Given the description of an element on the screen output the (x, y) to click on. 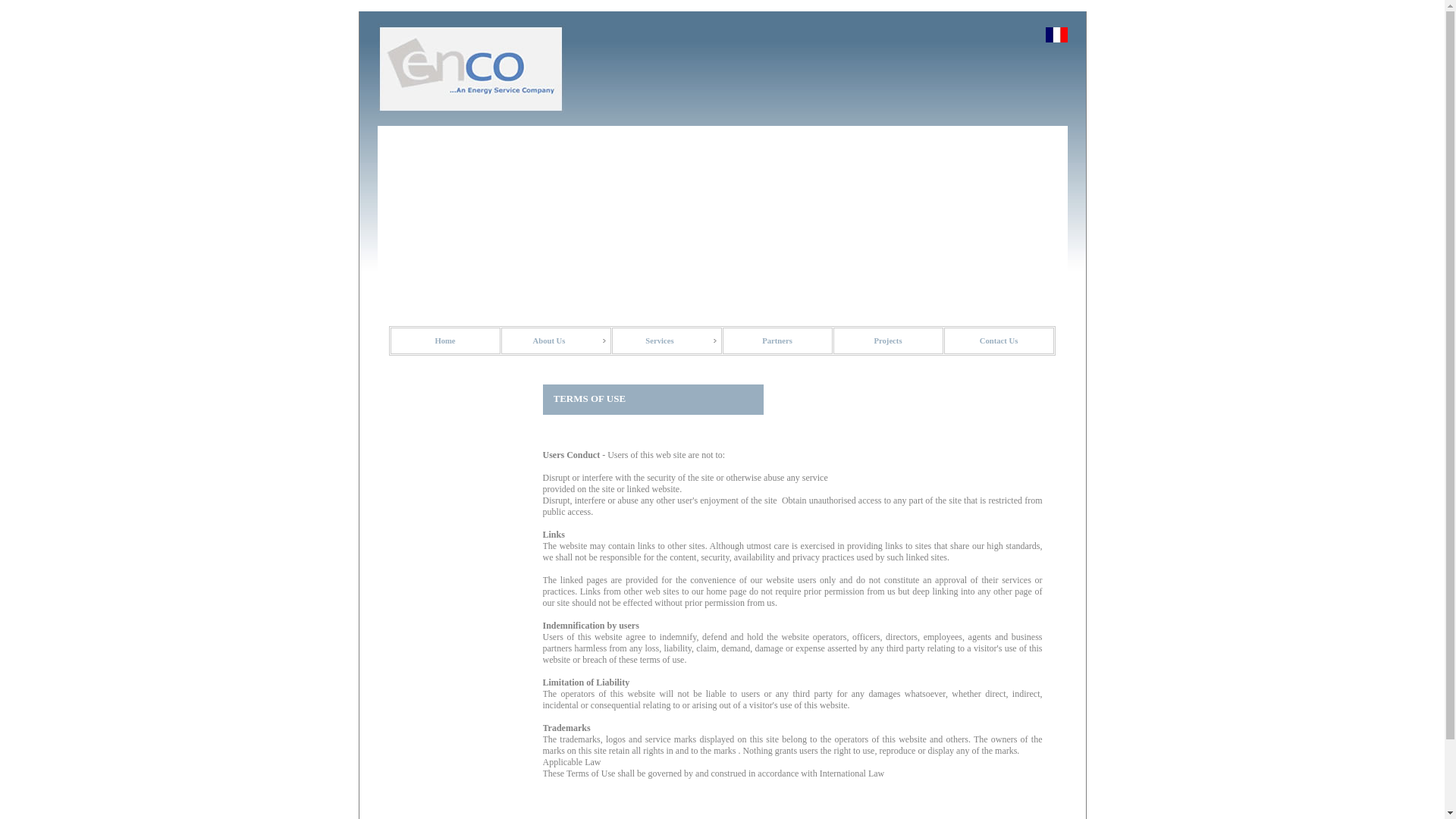
About Us (555, 340)
Home (444, 340)
Translate to French (1056, 38)
Partners (776, 340)
Contact Us (997, 340)
Services (665, 340)
Projects (887, 340)
